Given the description of an element on the screen output the (x, y) to click on. 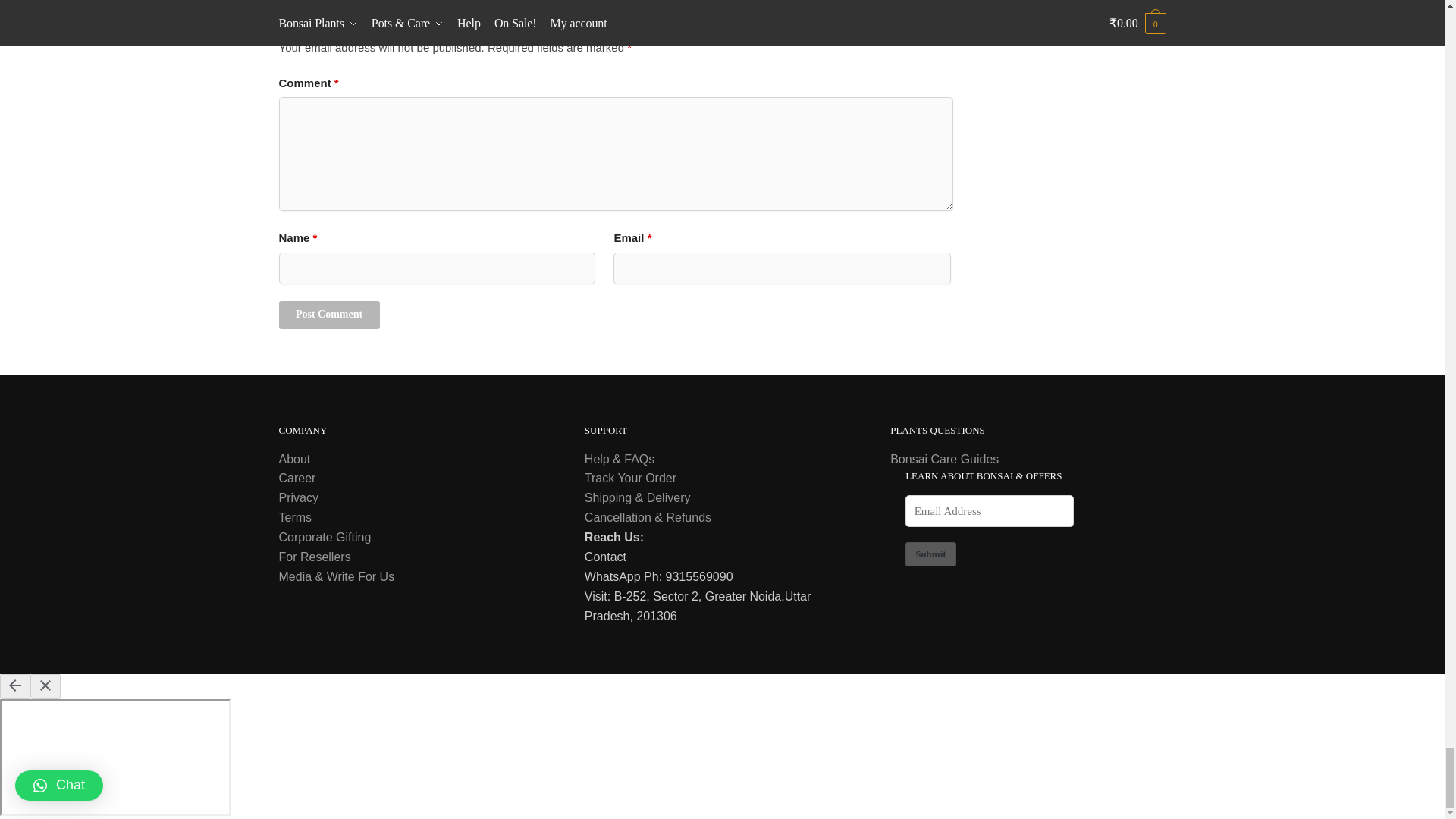
Post Comment (329, 315)
Career (297, 477)
About (295, 459)
Post Comment (329, 315)
